Given the description of an element on the screen output the (x, y) to click on. 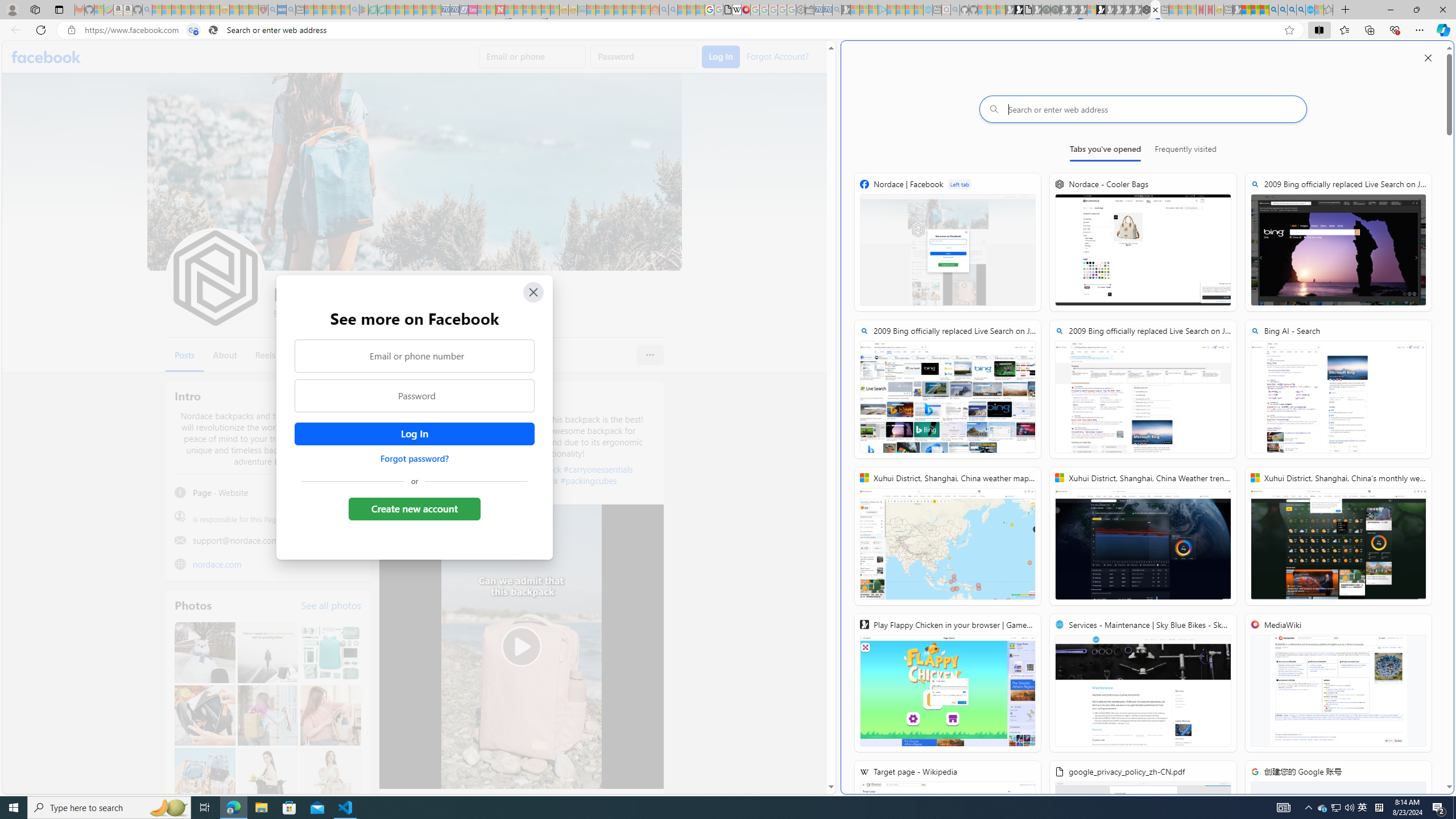
Password (414, 395)
New split screen (1154, 9)
Cheap Car Rentals - Save70.com - Sleeping (827, 9)
google - Search - Sleeping (354, 9)
Search icon (213, 29)
Accessible login button (414, 433)
